Given the description of an element on the screen output the (x, y) to click on. 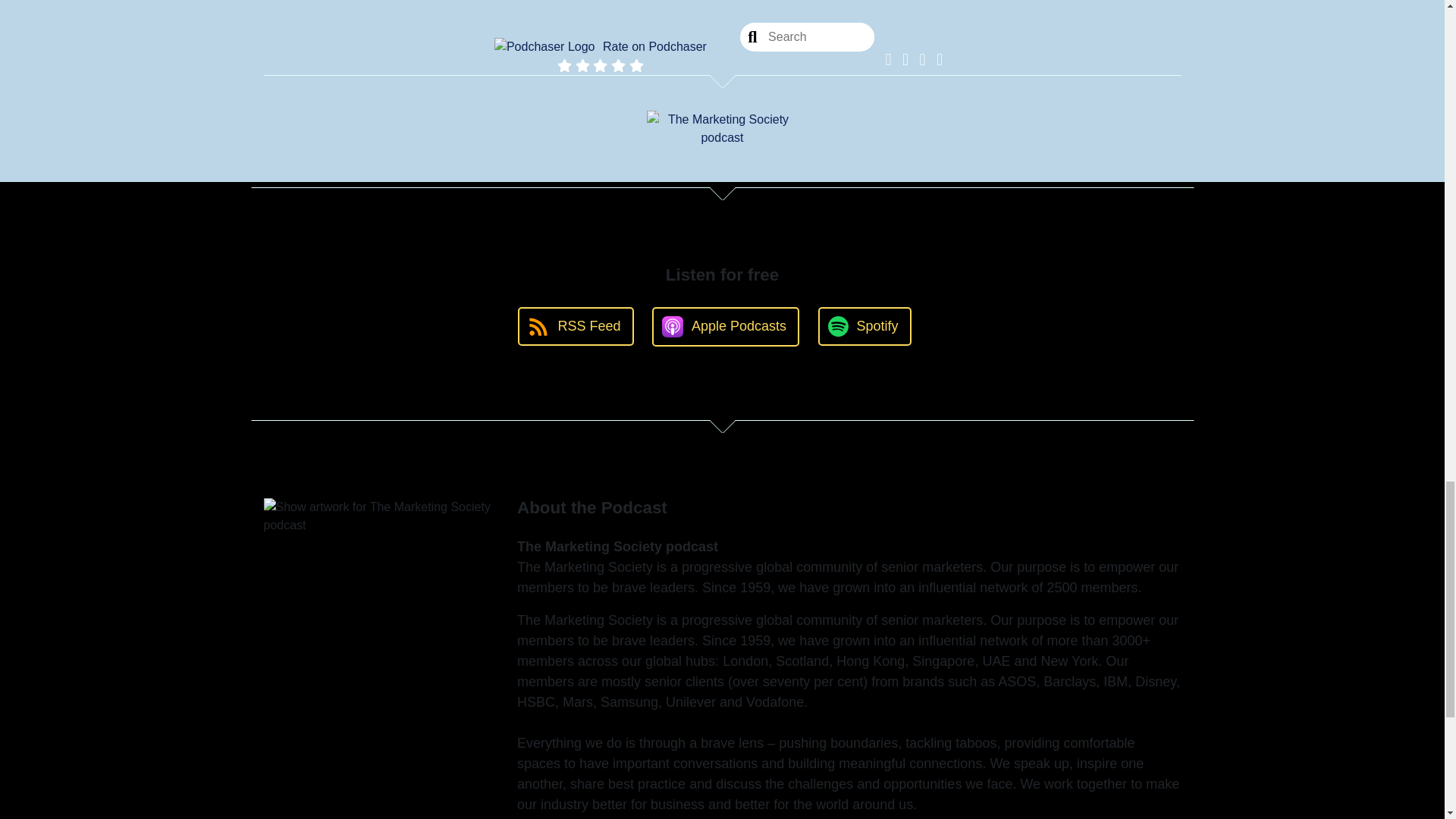
Spotify (863, 326)
Next Episode (615, 103)
RSS Feed (575, 326)
Apple Podcasts (725, 326)
All Episodes (710, 103)
Previous Episode (817, 103)
